Given the description of an element on the screen output the (x, y) to click on. 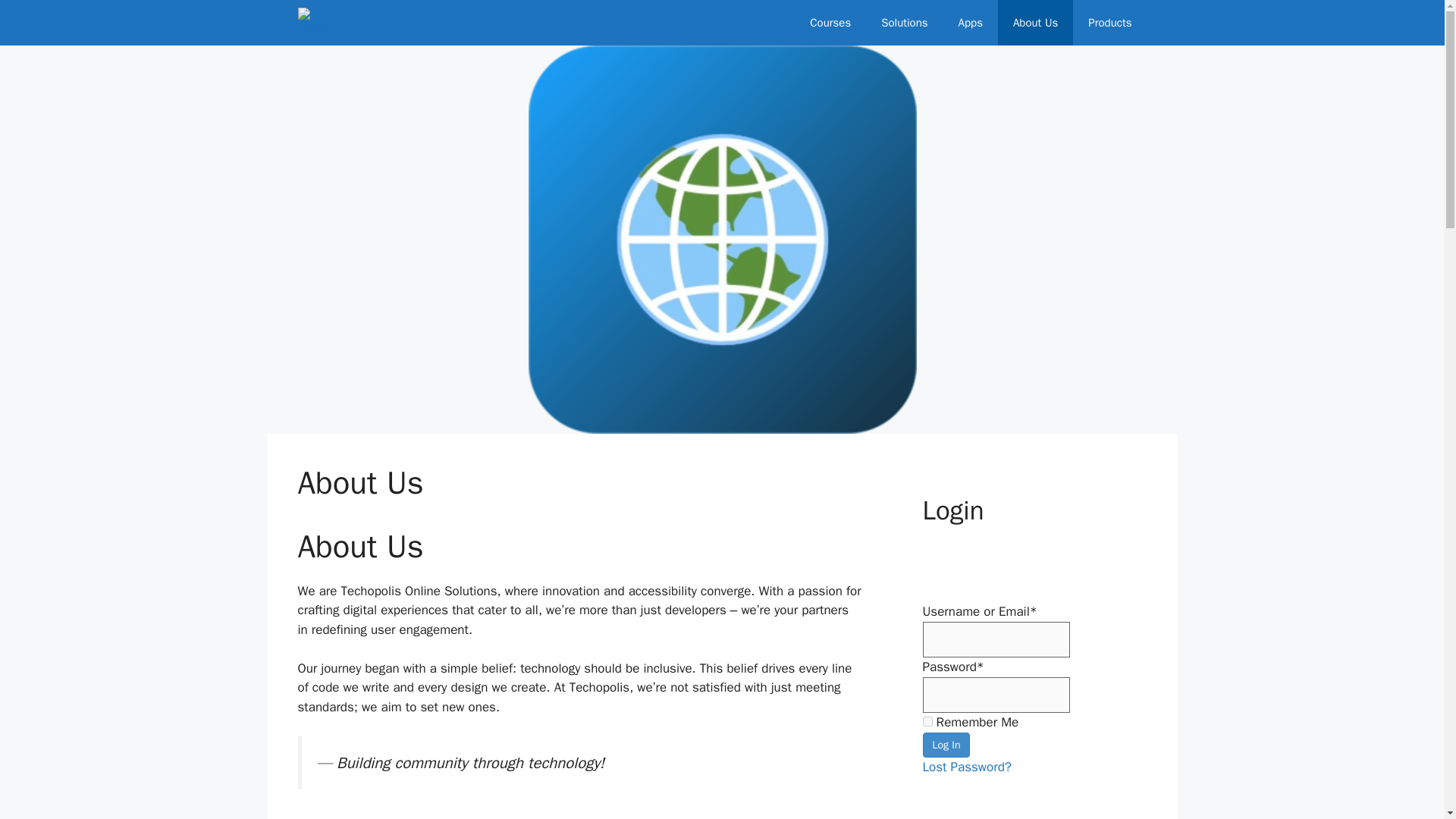
Solutions (904, 22)
Lost Password? (966, 766)
forever (926, 721)
Log In (945, 745)
Log In (945, 745)
Courses (830, 22)
Products (1110, 22)
Apps (970, 22)
About Us (1035, 22)
